Given the description of an element on the screen output the (x, y) to click on. 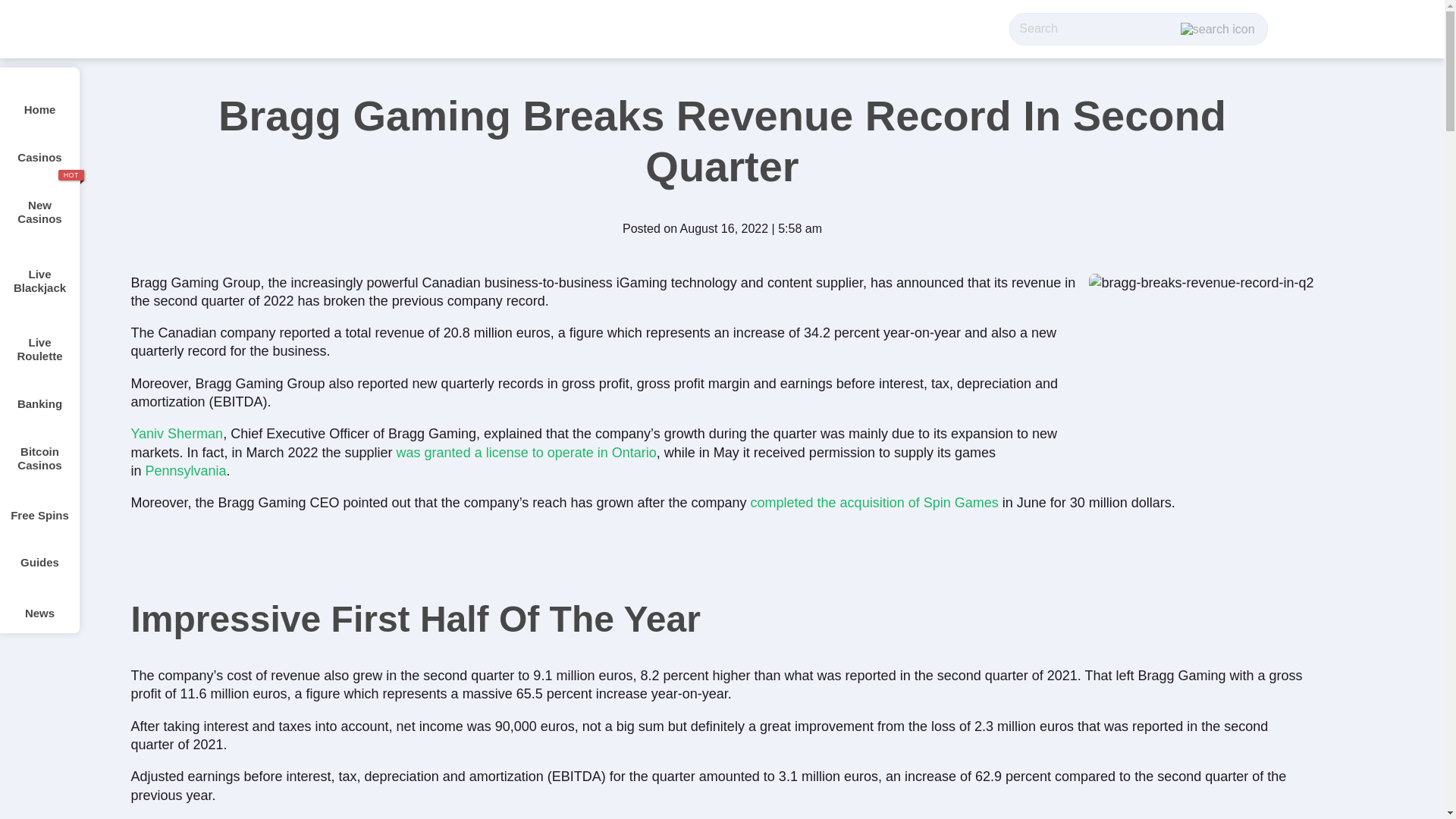
Search (1094, 28)
Search (1094, 28)
